Given the description of an element on the screen output the (x, y) to click on. 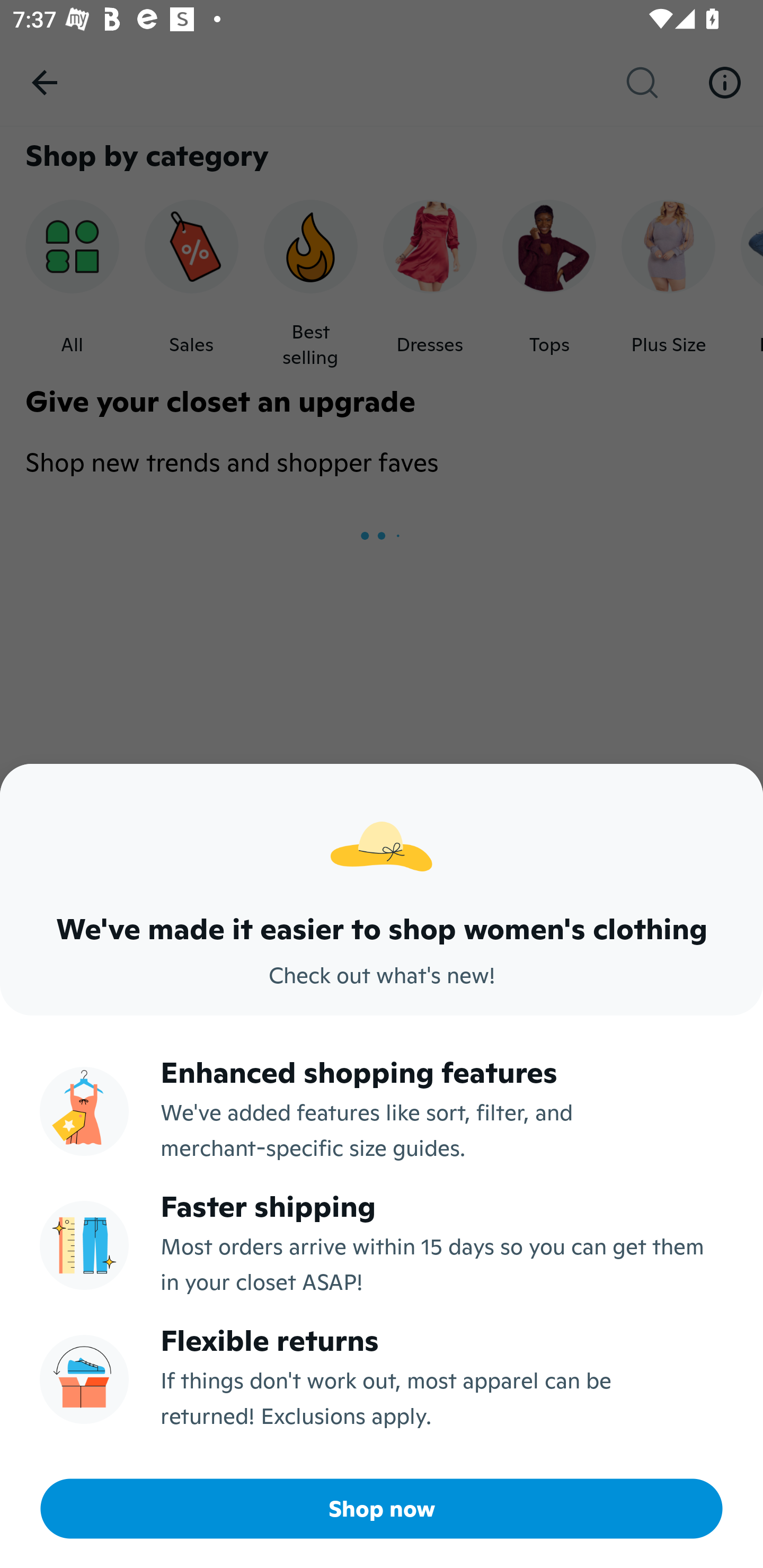
Shop now (381, 1508)
